Given the description of an element on the screen output the (x, y) to click on. 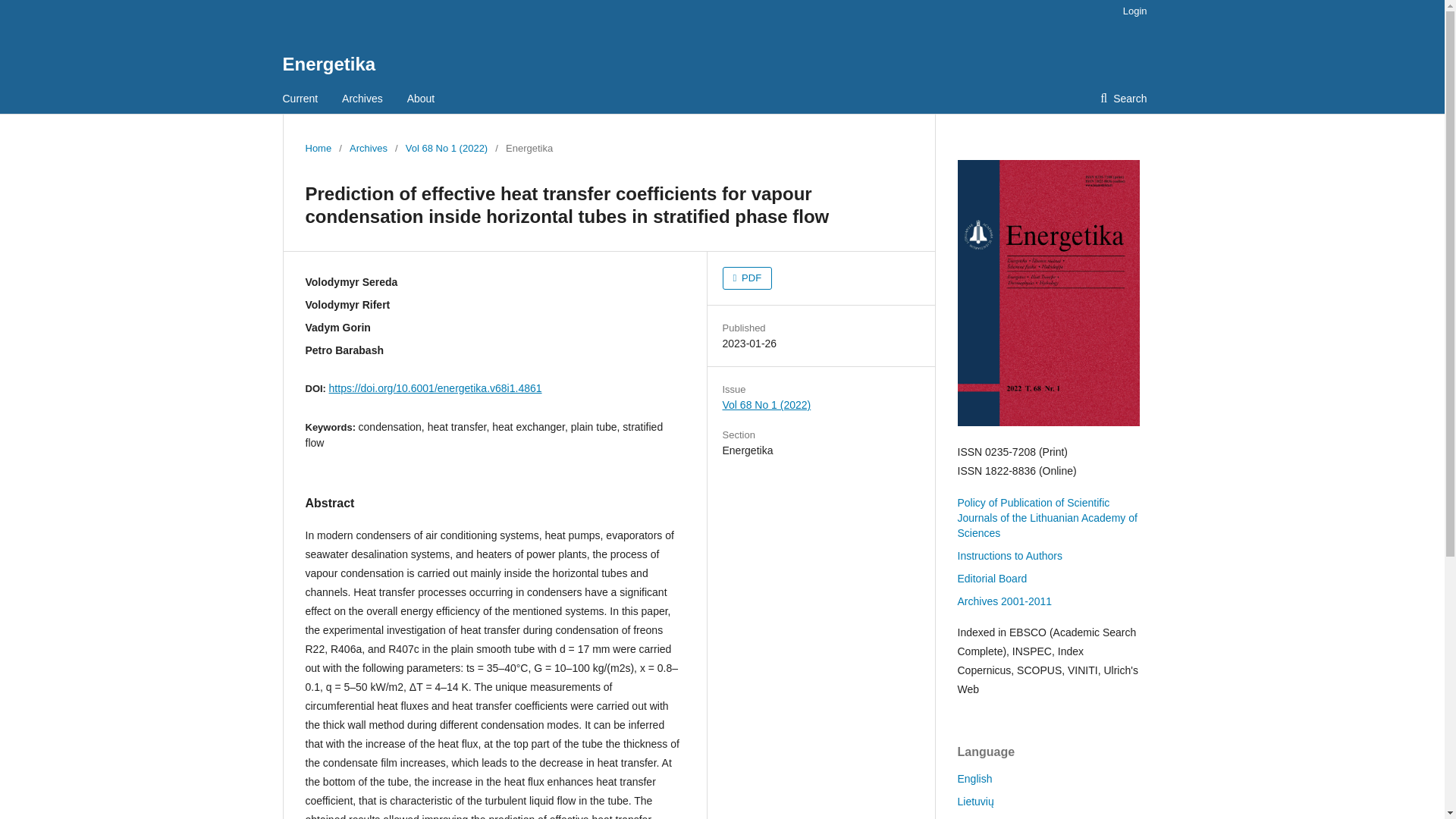
Search (1122, 98)
Home (317, 148)
About (421, 98)
Energetika (328, 64)
Current (299, 98)
Instructions to Authors (1009, 555)
Login (1131, 11)
Archives (362, 98)
Archives (368, 148)
Archives 2001-2011 (1003, 601)
